Given the description of an element on the screen output the (x, y) to click on. 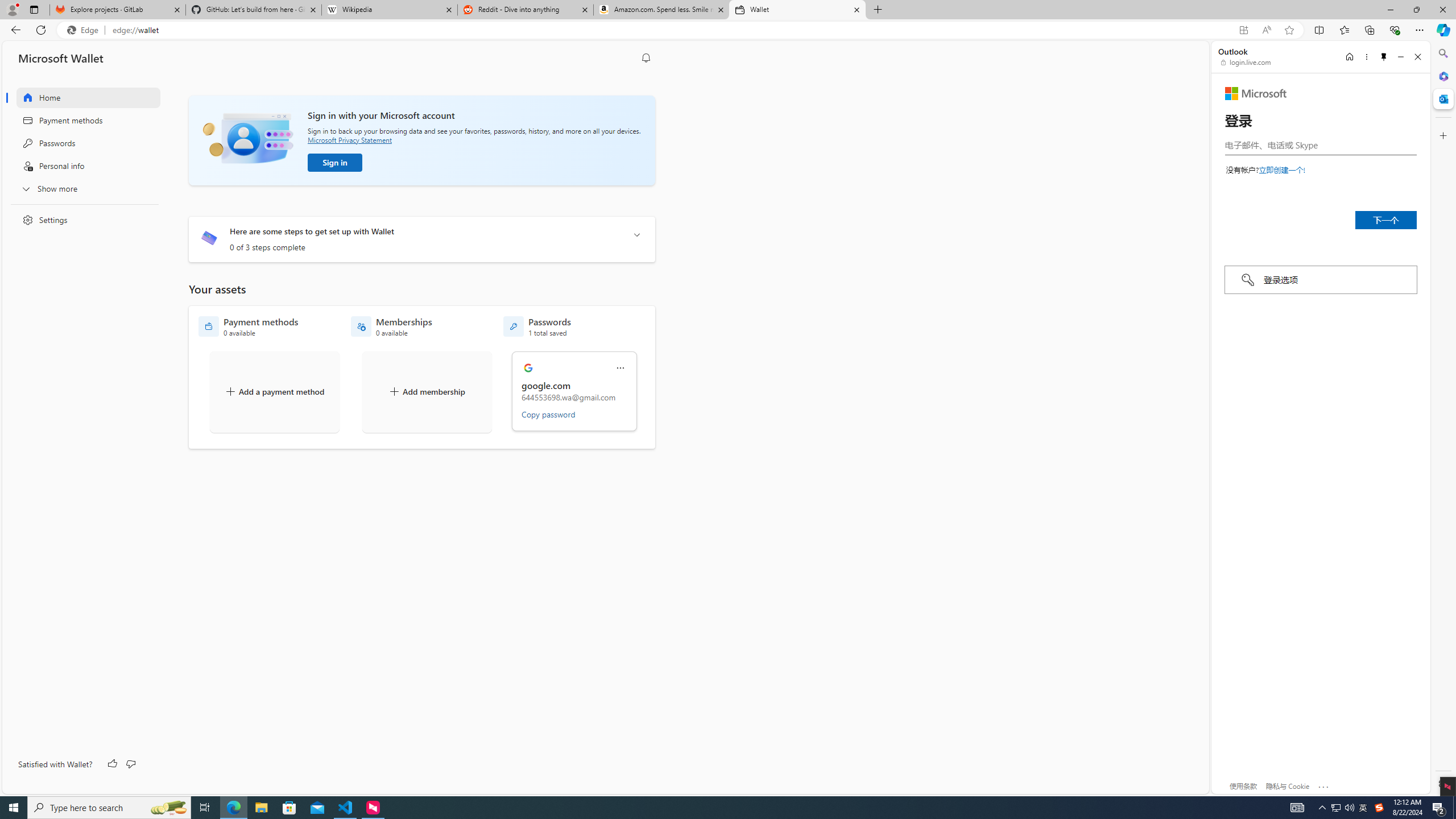
Sign in (334, 162)
Payment methods - 0 available (248, 326)
Wikipedia (390, 9)
Reddit - Dive into anything (525, 9)
Like (112, 764)
Notification (646, 58)
Payment methods (81, 120)
Show more (81, 188)
Unpin side pane (1383, 56)
